Given the description of an element on the screen output the (x, y) to click on. 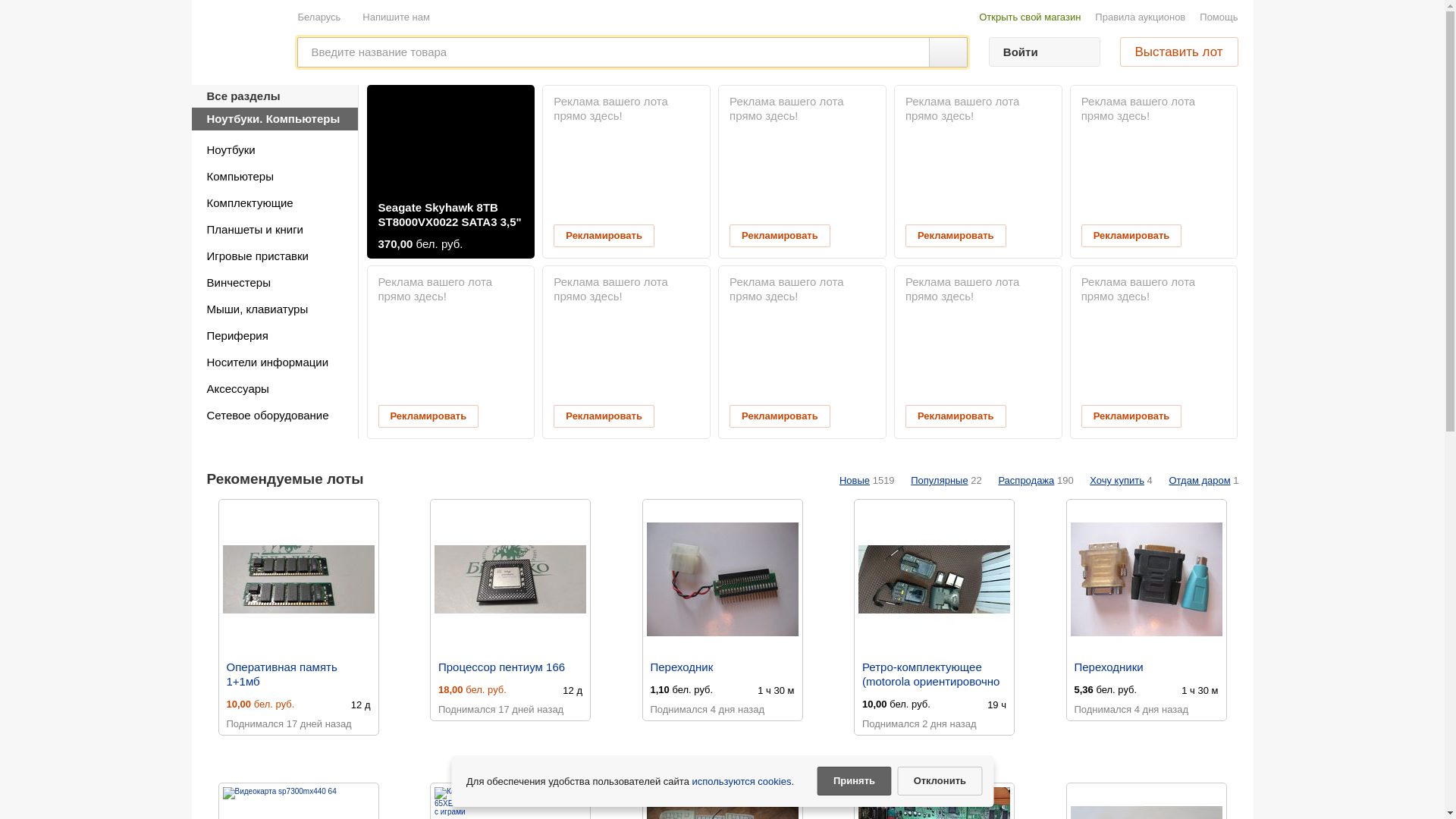
pp Element type: text (721, 291)
login Element type: text (721, 172)
